Given the description of an element on the screen output the (x, y) to click on. 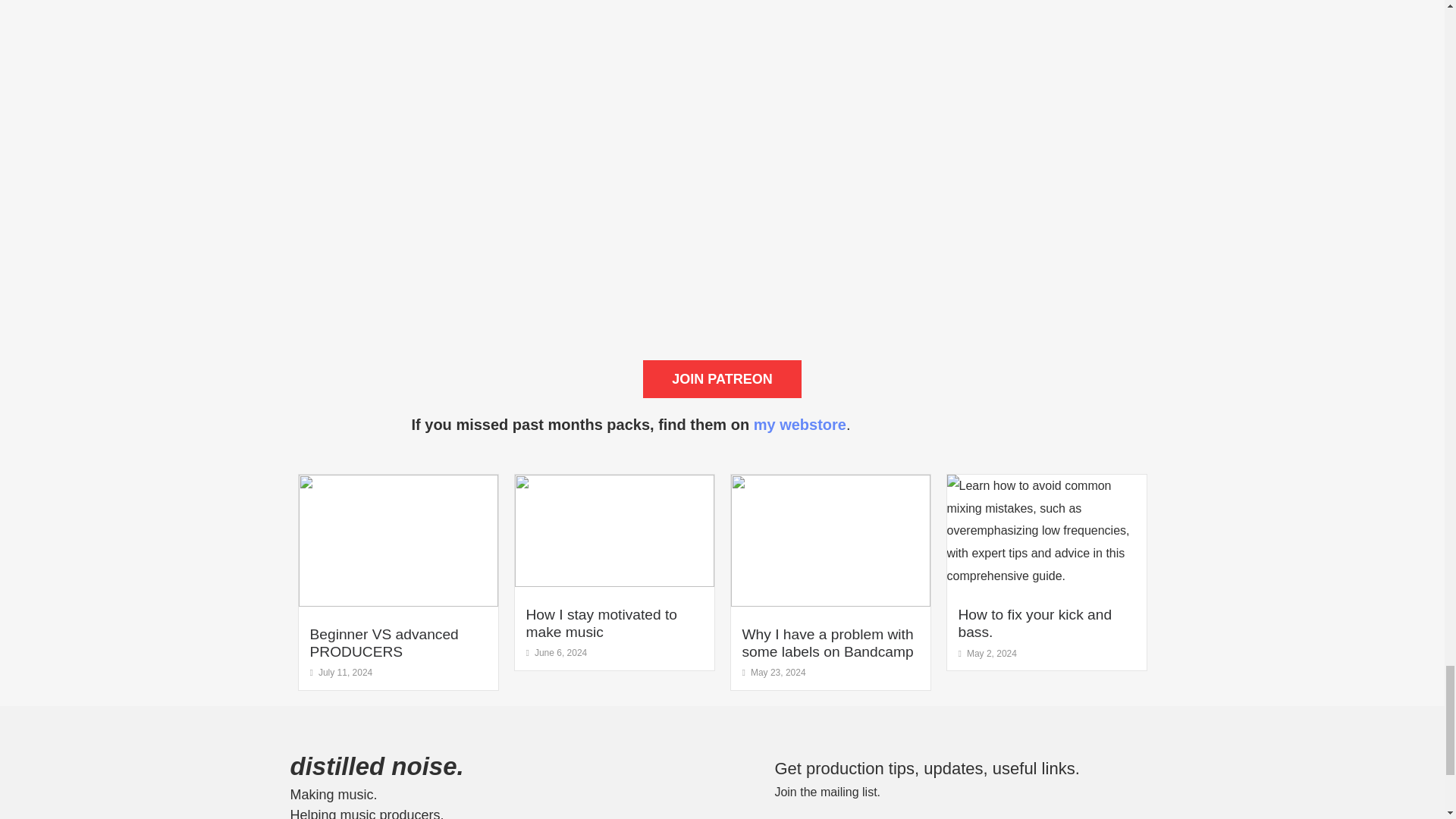
How I stay motivated to make music (601, 622)
JOIN PATREON (721, 379)
How to fix your kick and bass. (1035, 622)
Why I have a problem with some labels on Bandcamp (826, 643)
Beginner VS advanced PRODUCERS (383, 643)
